Given the description of an element on the screen output the (x, y) to click on. 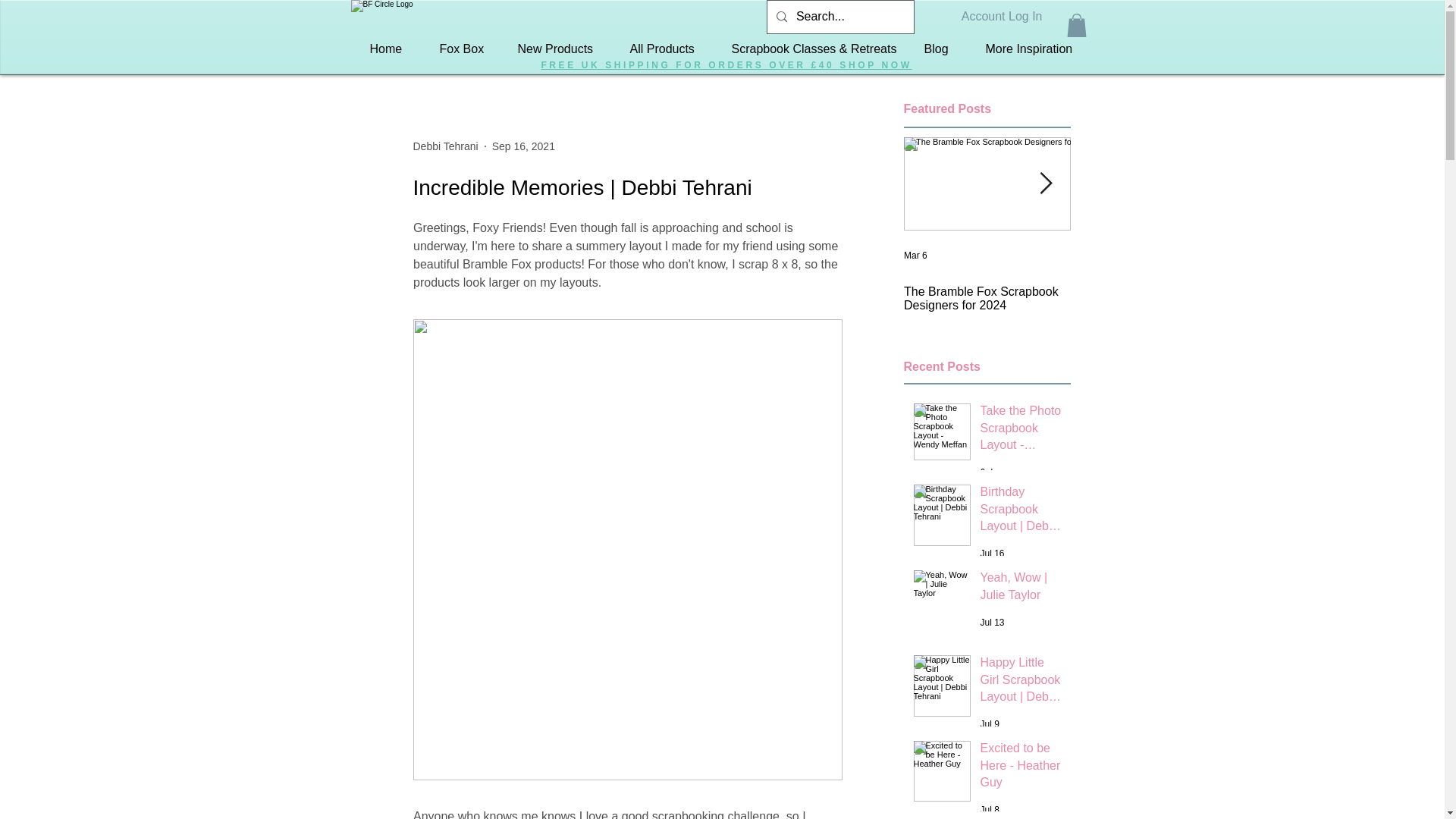
New Products (555, 48)
Sep 16, 2021 (523, 146)
6 days ago (1002, 471)
Blog (935, 48)
Jul 8 (988, 809)
Fox Box (458, 48)
Jul 9 (988, 724)
SHOP NOW (875, 64)
Jul 13 (991, 622)
Mar 6 (915, 255)
Debbi Tehrani (444, 146)
Account Log In (1001, 16)
All Products (662, 48)
Debbi Tehrani (444, 146)
Home (385, 48)
